Given the description of an element on the screen output the (x, y) to click on. 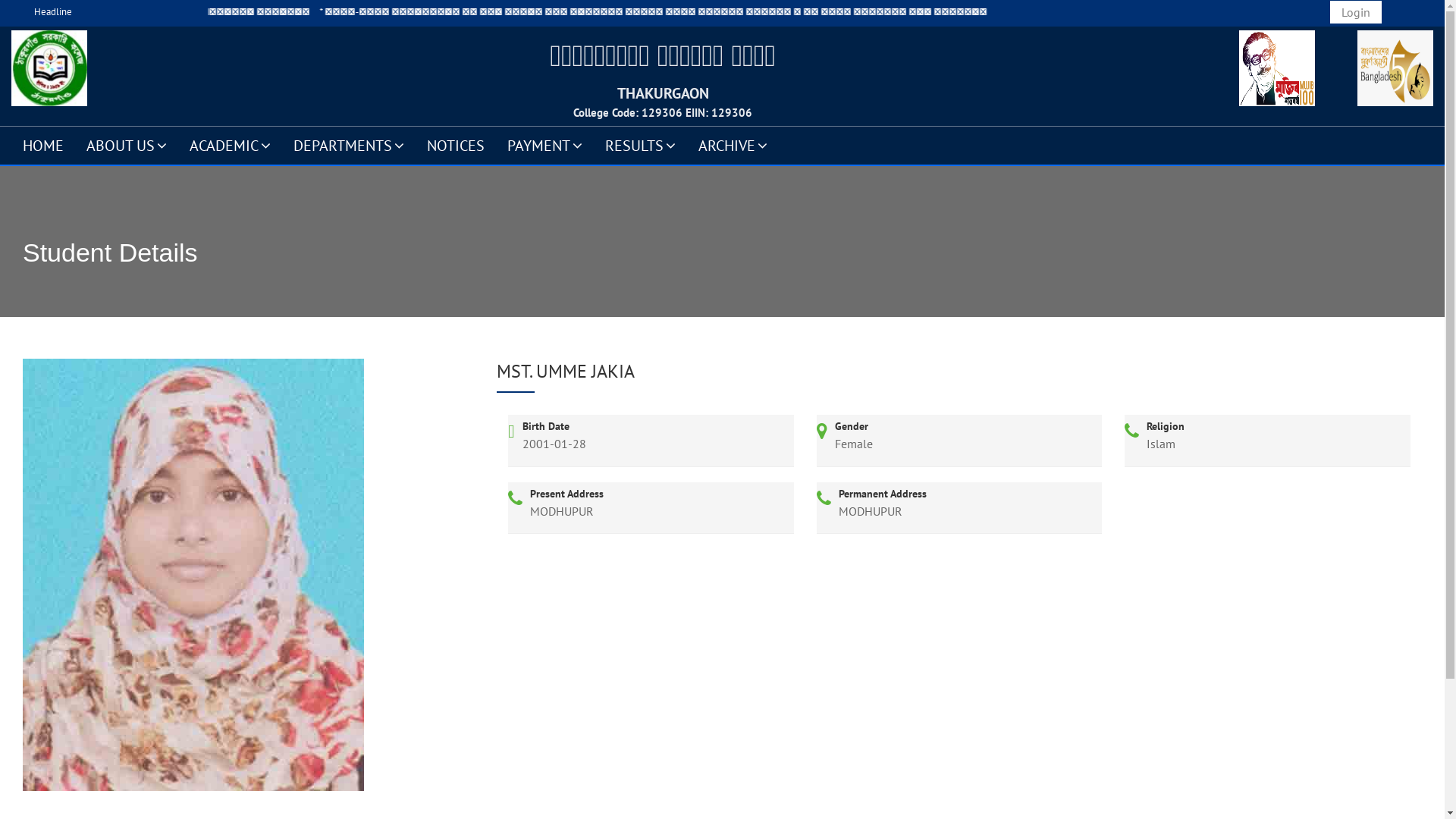
RESULTS Element type: text (640, 144)
ARCHIVE Element type: text (732, 144)
ACADEMIC Element type: text (230, 144)
NOTICES Element type: text (455, 144)
DEPARTMENTS Element type: text (348, 144)
Login Element type: text (1355, 11)
PAYMENT Element type: text (544, 144)
ABOUT US Element type: text (126, 144)
HOME Element type: text (43, 144)
